Given the description of an element on the screen output the (x, y) to click on. 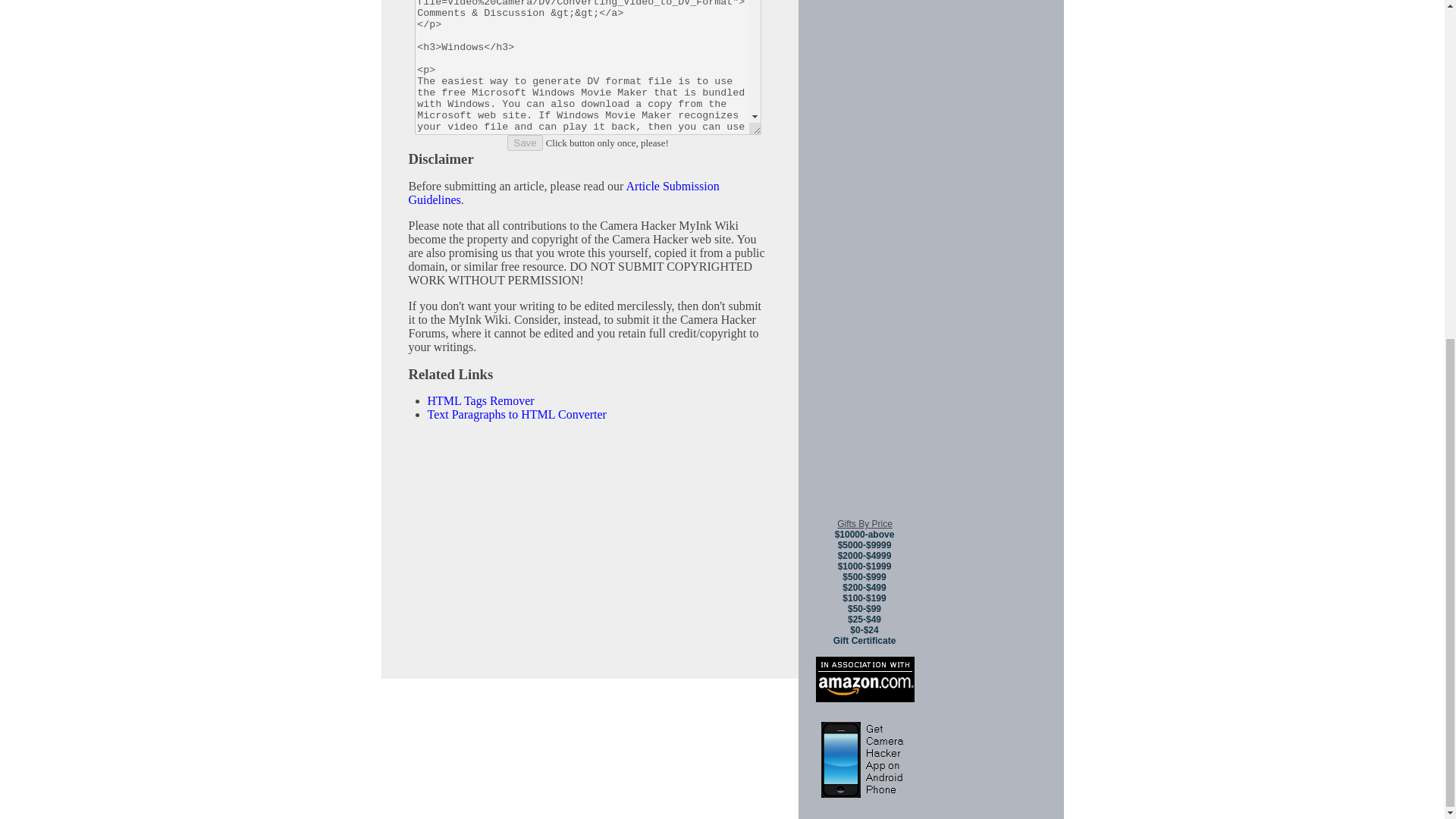
Text Paragraphs to HTML Converter (517, 413)
Disclaimer (440, 158)
Save (523, 142)
HTML Tags Remover (481, 400)
Article Submission Guidelines (563, 192)
Gift Certificate (864, 640)
Save (523, 142)
Related Links (450, 374)
